Given the description of an element on the screen output the (x, y) to click on. 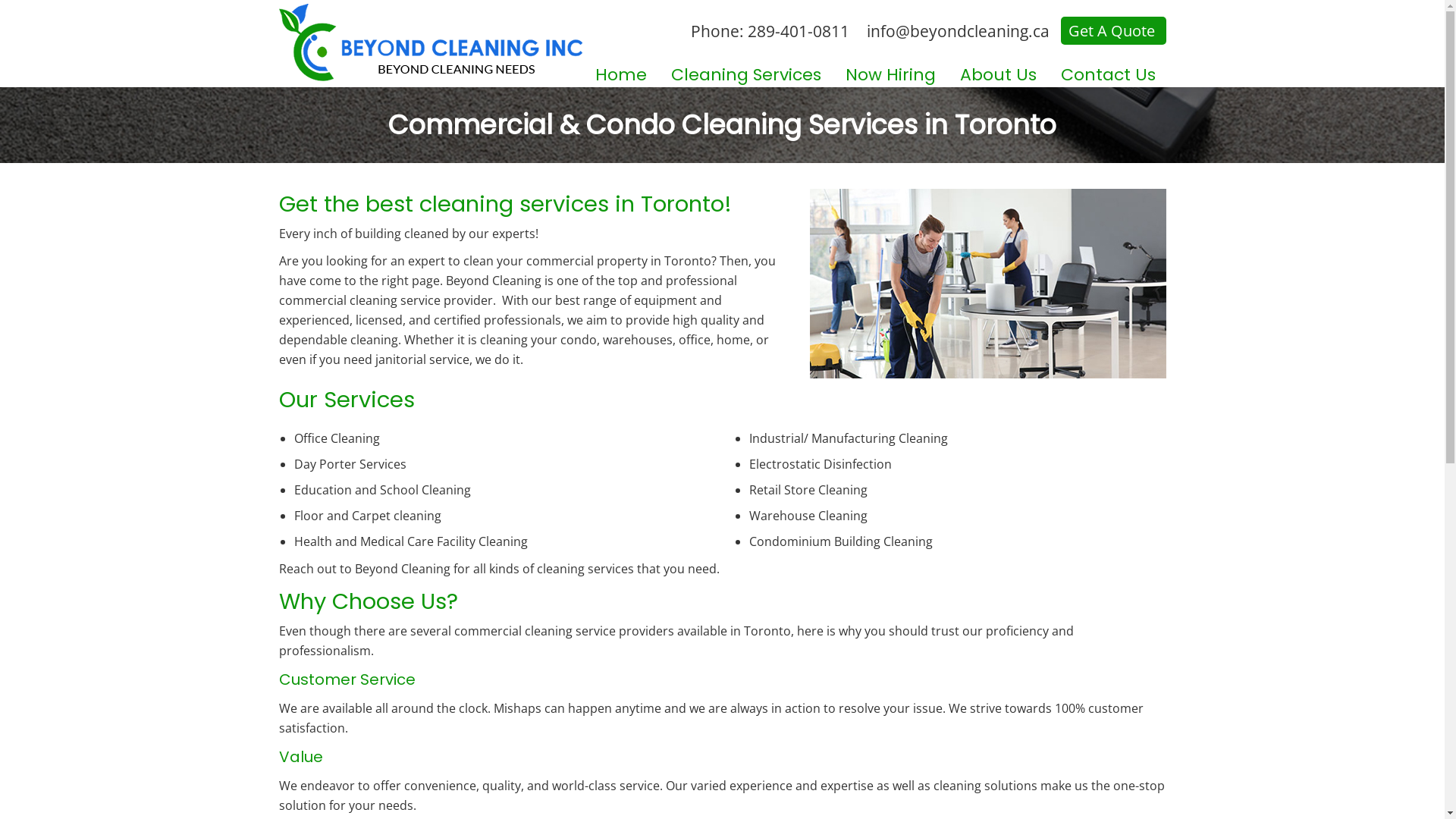
Now Hiring Element type: text (889, 75)
Cleaning Services Element type: text (745, 75)
289-401-0811 Element type: text (798, 30)
Get A Quote  Element type: text (1112, 30)
Contact Us Element type: text (1107, 75)
Beyond Cleaning Inc Element type: hover (430, 42)
About Us Element type: text (998, 75)
info@beyondcleaning.ca Element type: text (950, 30)
Home Element type: text (618, 75)
